Given the description of an element on the screen output the (x, y) to click on. 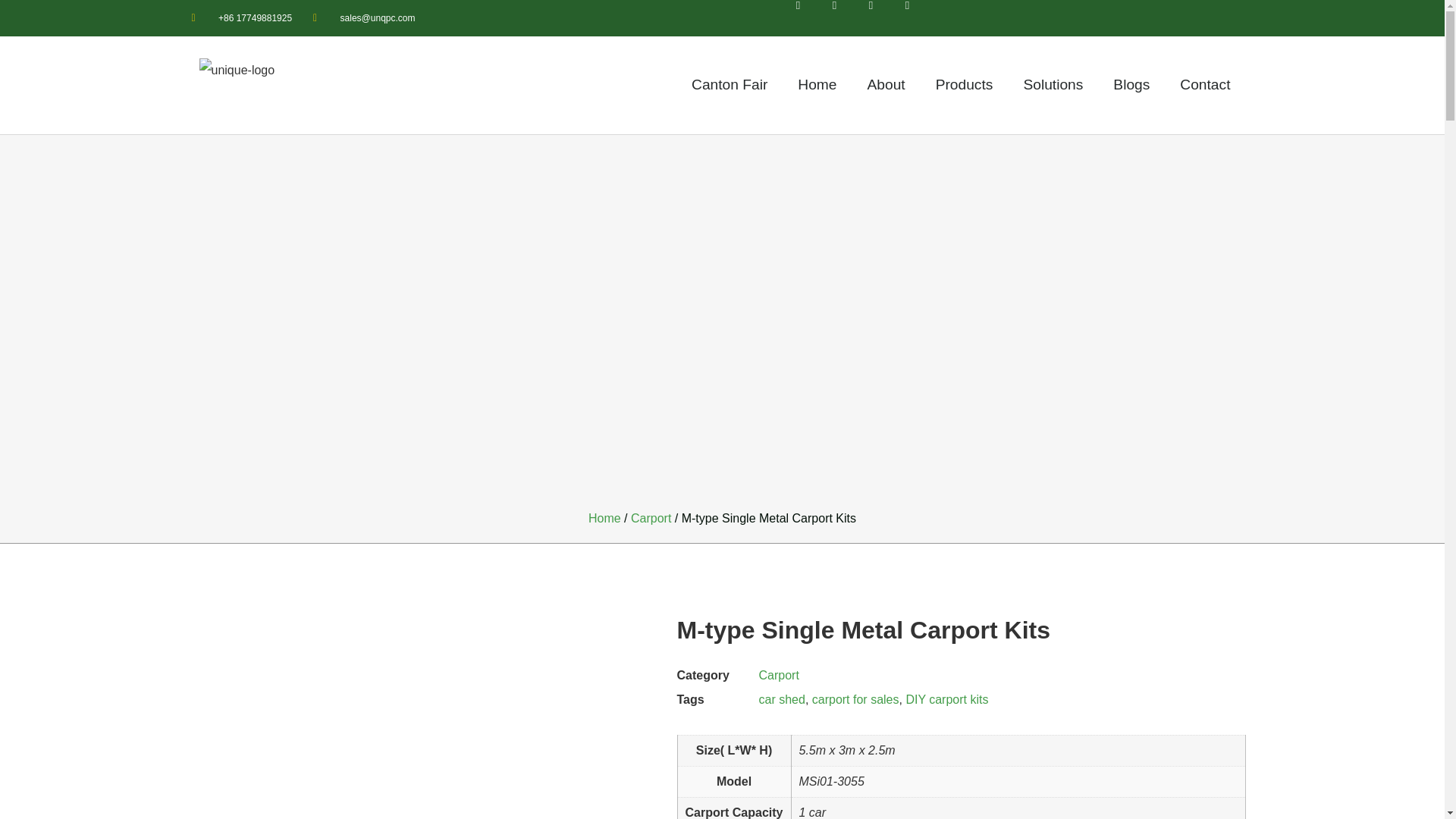
Canton Fair (730, 85)
Products (964, 85)
Solutions (1052, 85)
